Given the description of an element on the screen output the (x, y) to click on. 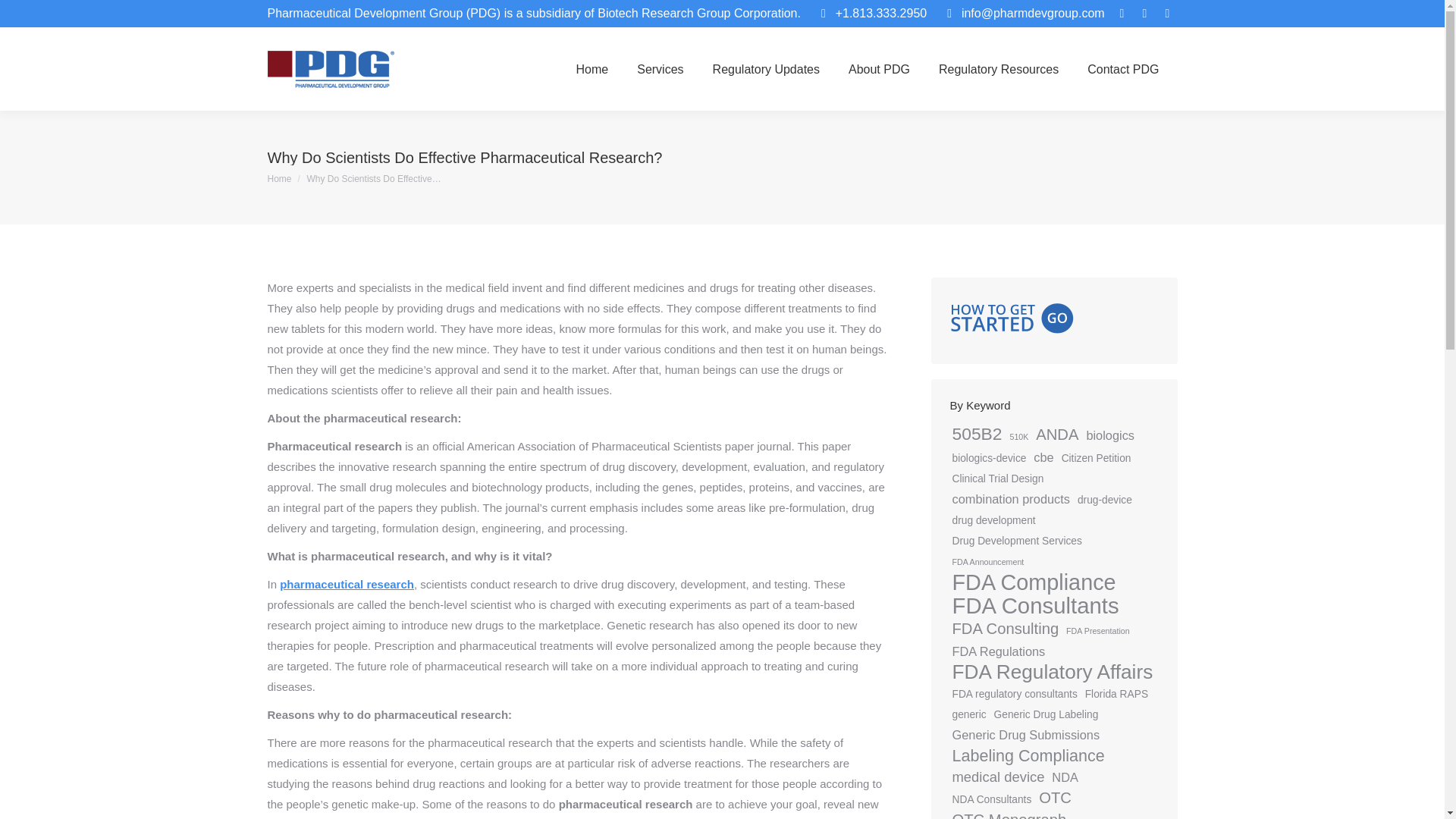
Dribbble page opens in new window (1166, 13)
Services (660, 68)
Twitter page opens in new window (1144, 13)
Facebook page opens in new window (1121, 13)
Home (278, 178)
Twitter page opens in new window (1144, 13)
Home (593, 68)
Facebook page opens in new window (1121, 13)
Dribbble page opens in new window (1166, 13)
